Given the description of an element on the screen output the (x, y) to click on. 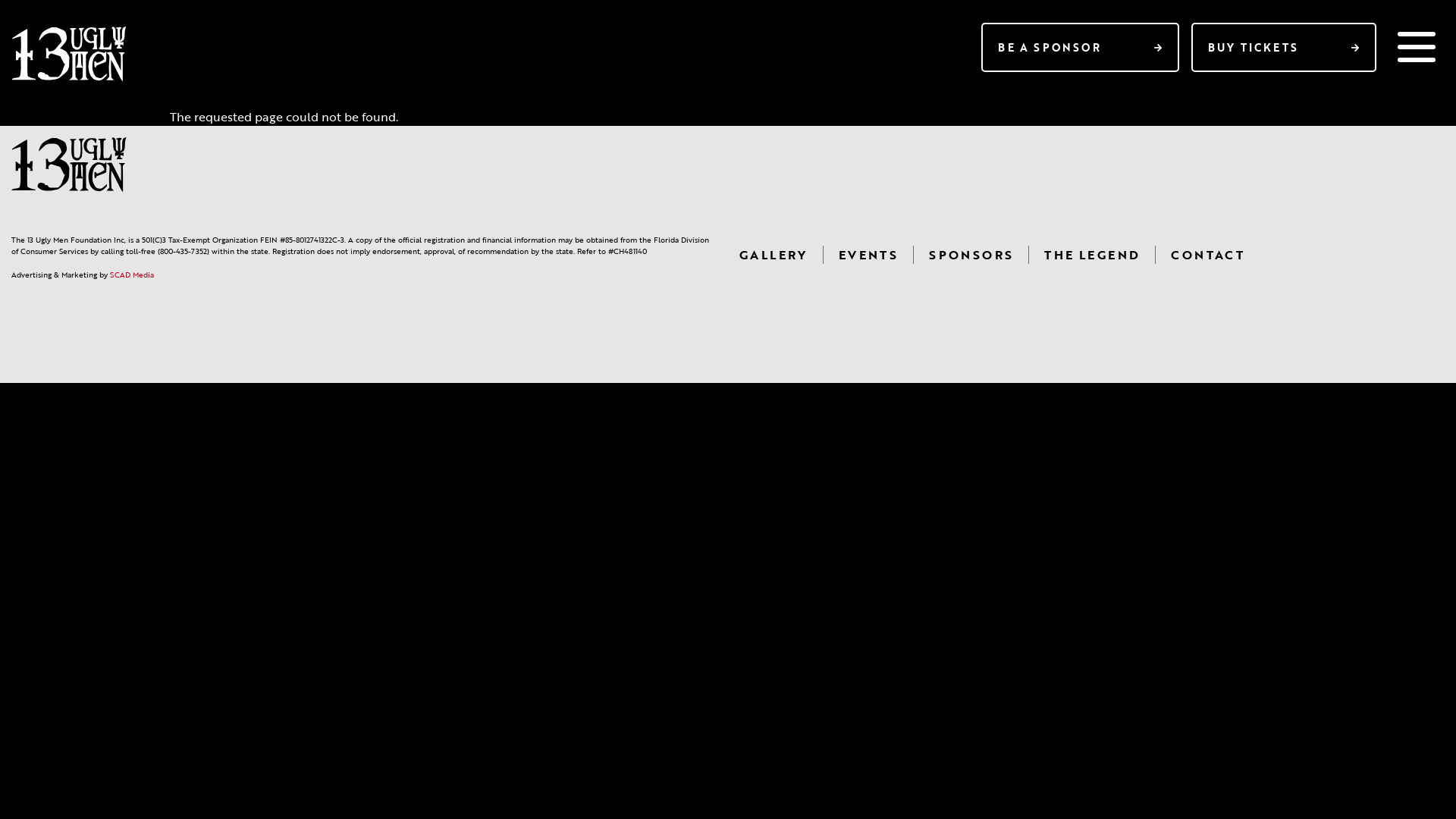
SPONSORS Element type: text (970, 254)
BUY TICKETS Element type: text (1283, 47)
SCAD Media Element type: text (131, 274)
EVENTS Element type: text (867, 254)
Toggle navigation Element type: text (1416, 46)
Home Element type: hover (68, 53)
GALLERY Element type: text (773, 254)
CONTACT Element type: text (1207, 254)
BE A SPONSOR Element type: text (1079, 47)
Skip to main content Element type: text (0, 0)
THE LEGEND Element type: text (1091, 254)
